Given the description of an element on the screen output the (x, y) to click on. 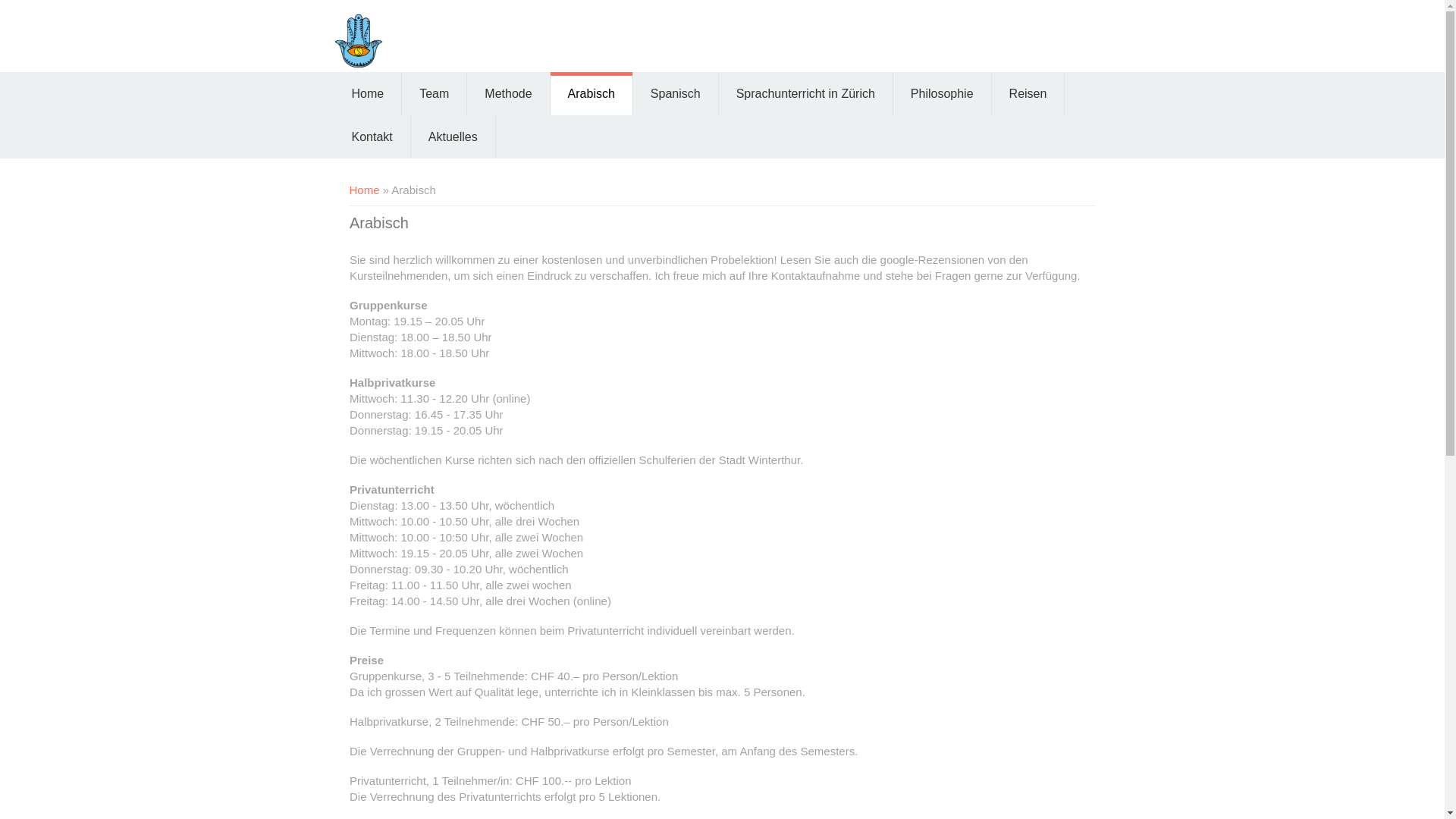
Methode Element type: text (508, 93)
Home Element type: text (367, 93)
Arabisch Element type: text (591, 93)
Aktuelles Element type: text (453, 136)
Reisen Element type: text (1027, 93)
Spanisch Element type: text (675, 93)
Skip to main content Element type: text (51, 0)
Philosophie Element type: text (942, 93)
Kontakt Element type: text (371, 136)
Team Element type: text (433, 93)
Home Element type: text (363, 189)
